Given the description of an element on the screen output the (x, y) to click on. 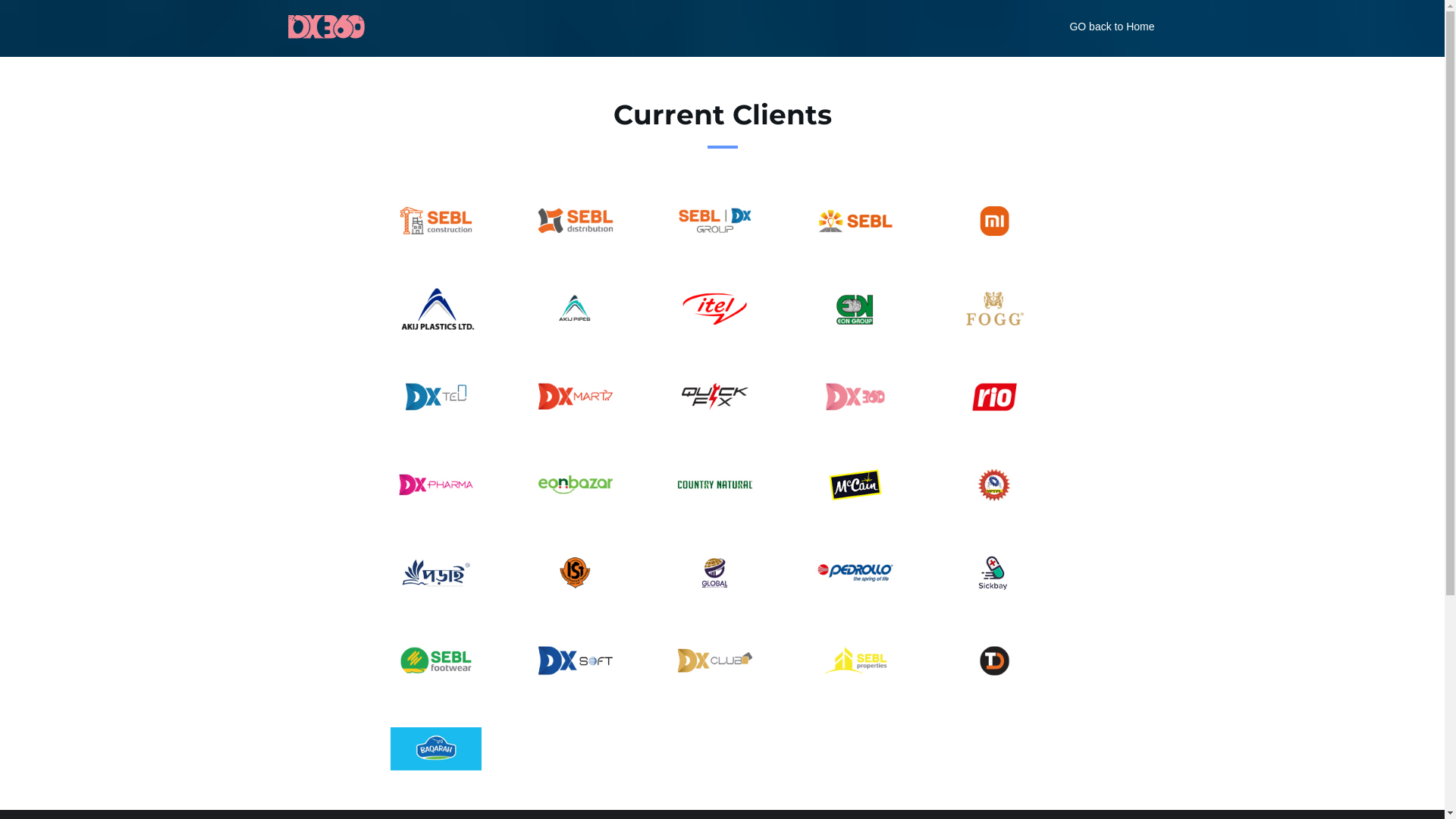
GO back to Home Element type: text (1111, 27)
